Given the description of an element on the screen output the (x, y) to click on. 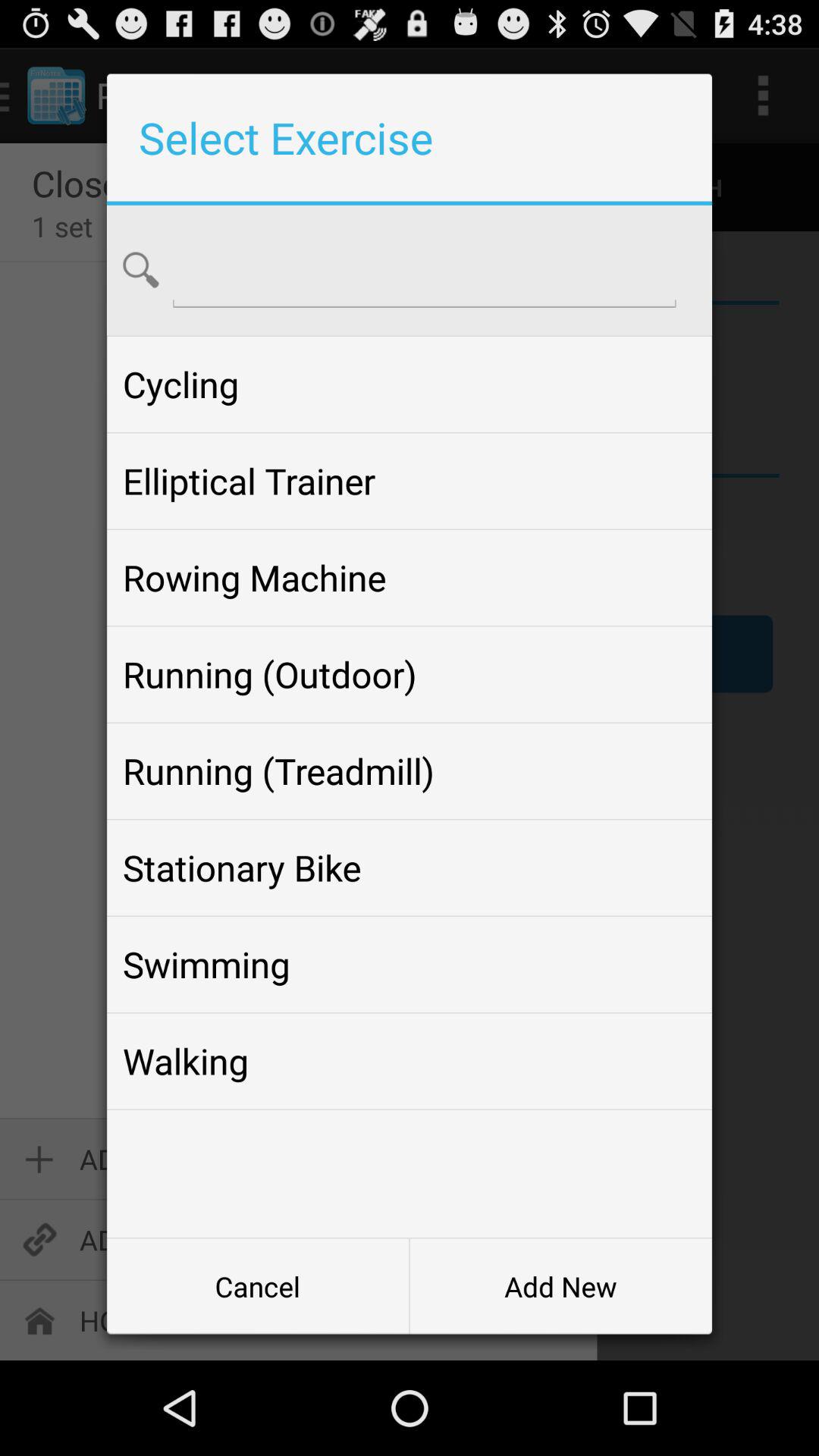
swipe until walking icon (409, 1061)
